Given the description of an element on the screen output the (x, y) to click on. 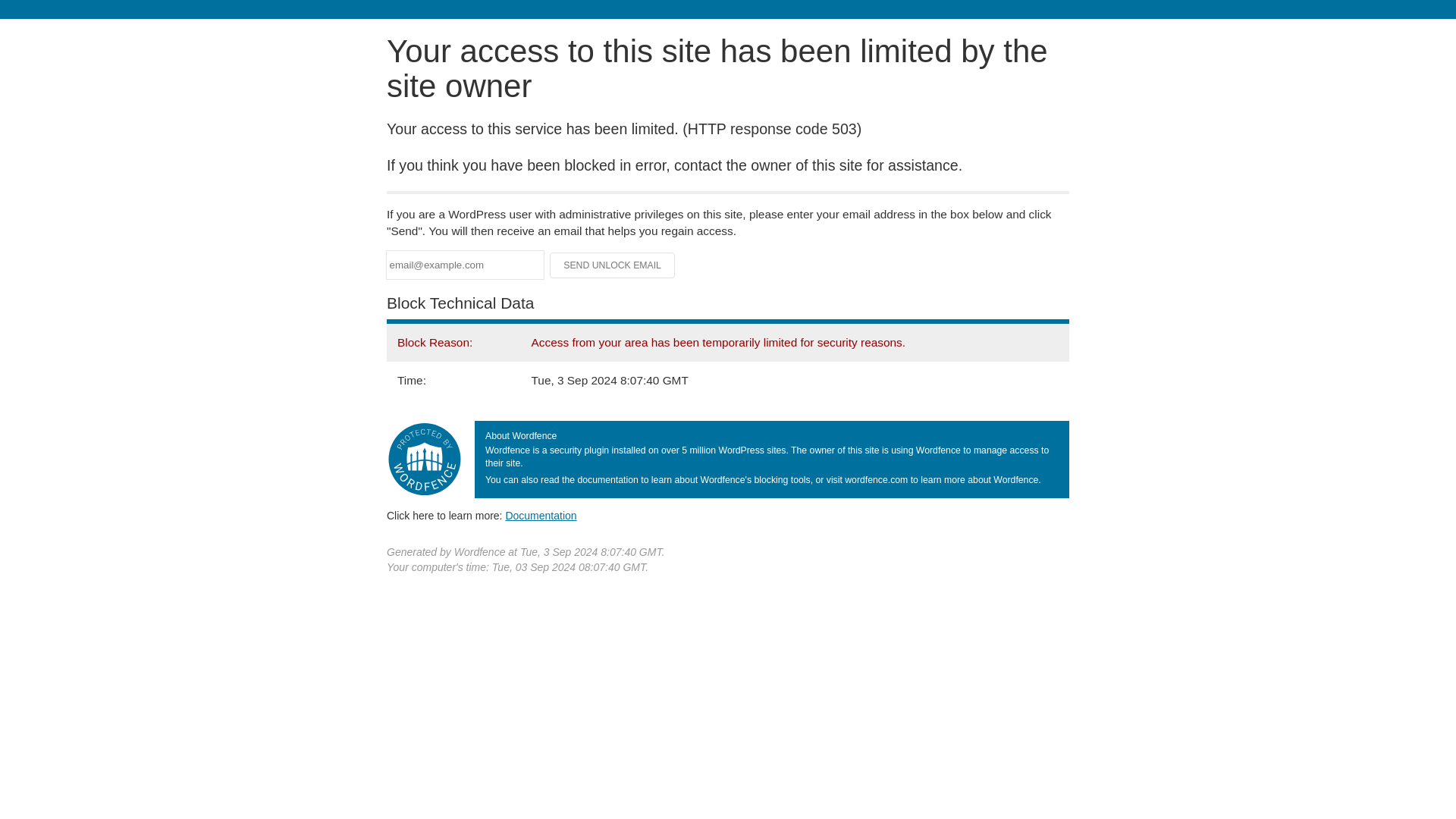
Send Unlock Email (612, 265)
Send Unlock Email (612, 265)
Documentation (540, 515)
